Given the description of an element on the screen output the (x, y) to click on. 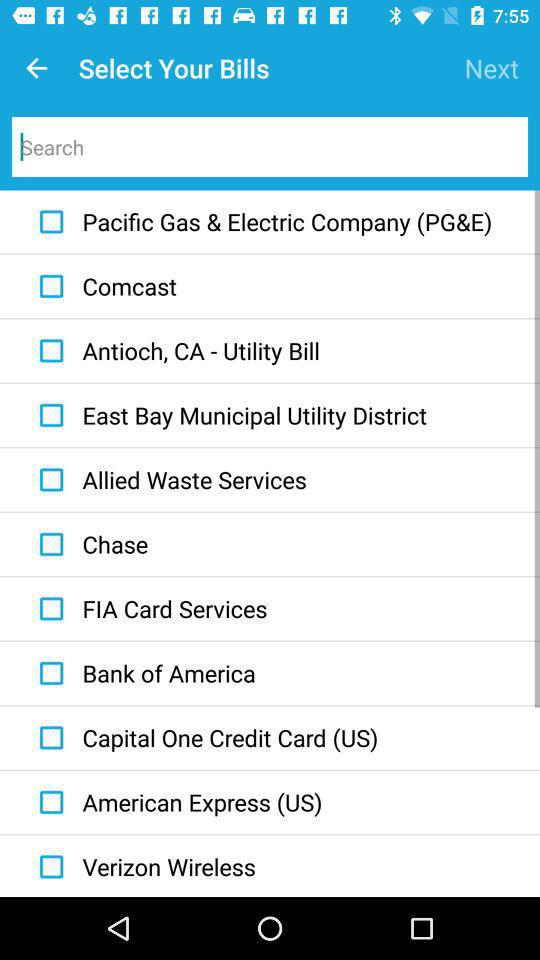
select icon above the chase item (168, 480)
